Given the description of an element on the screen output the (x, y) to click on. 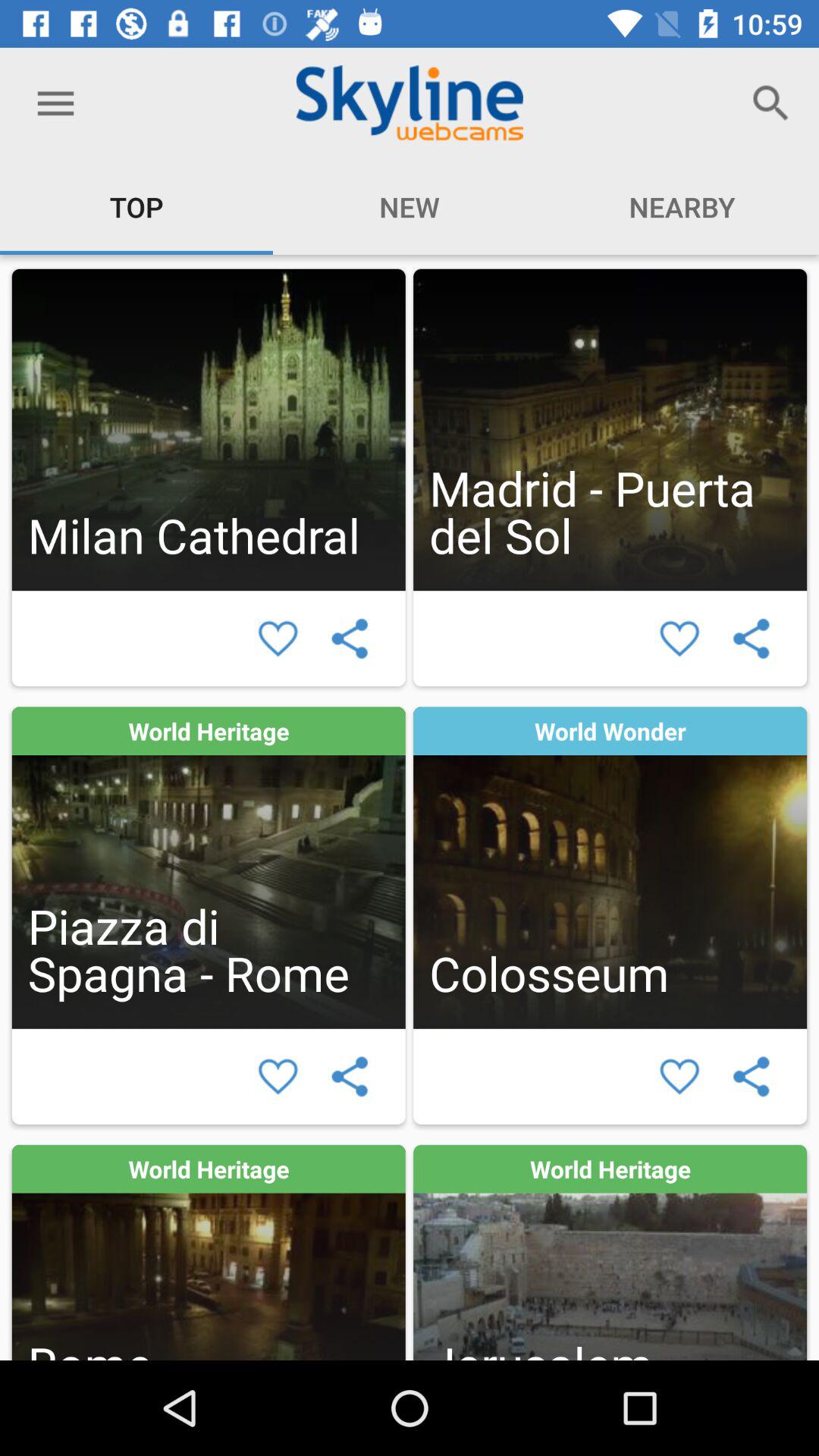
like (278, 638)
